Given the description of an element on the screen output the (x, y) to click on. 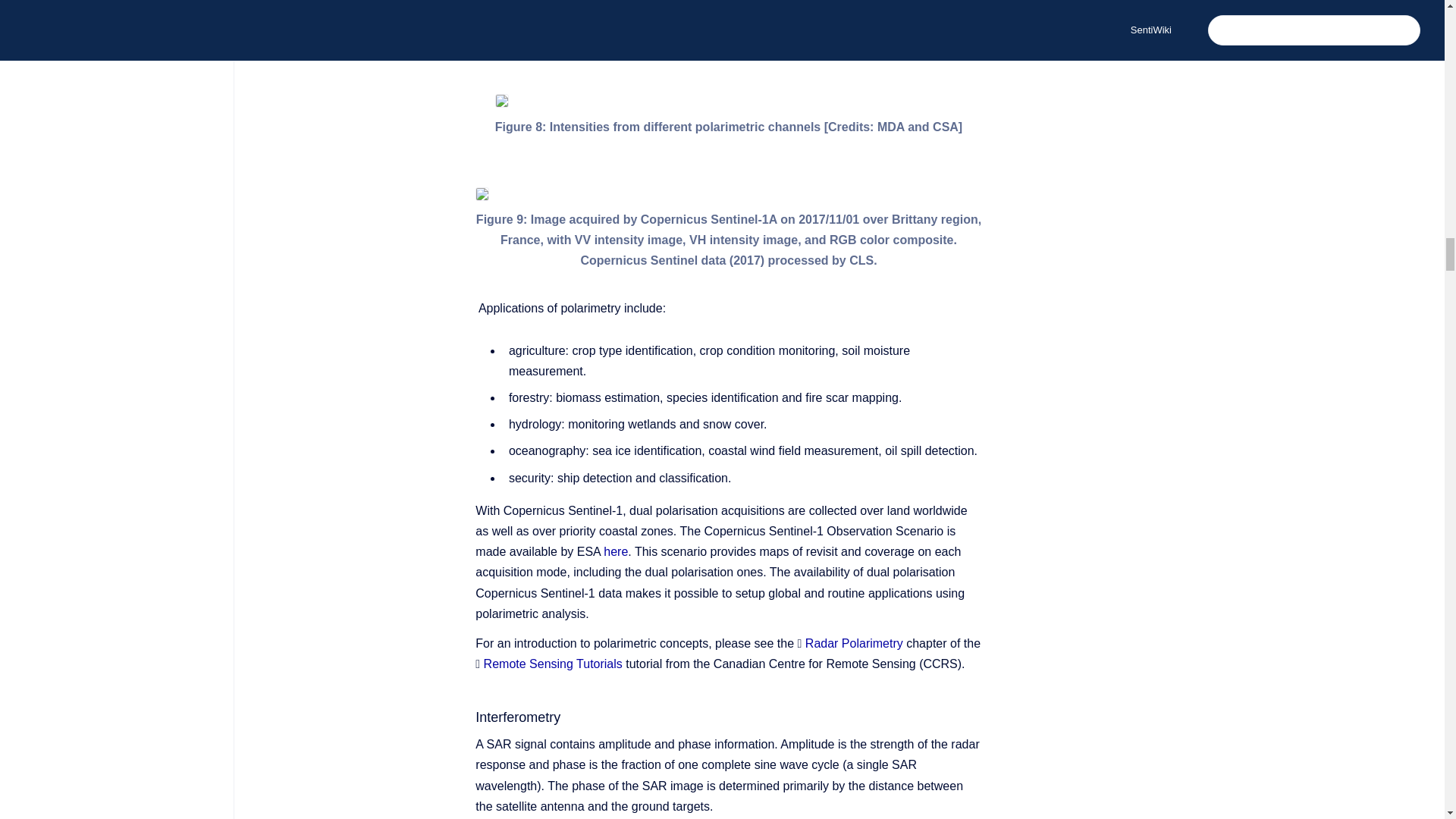
Radar Polarimetry (853, 643)
here (615, 551)
Remote Sensing Tutorials (553, 663)
